Given the description of an element on the screen output the (x, y) to click on. 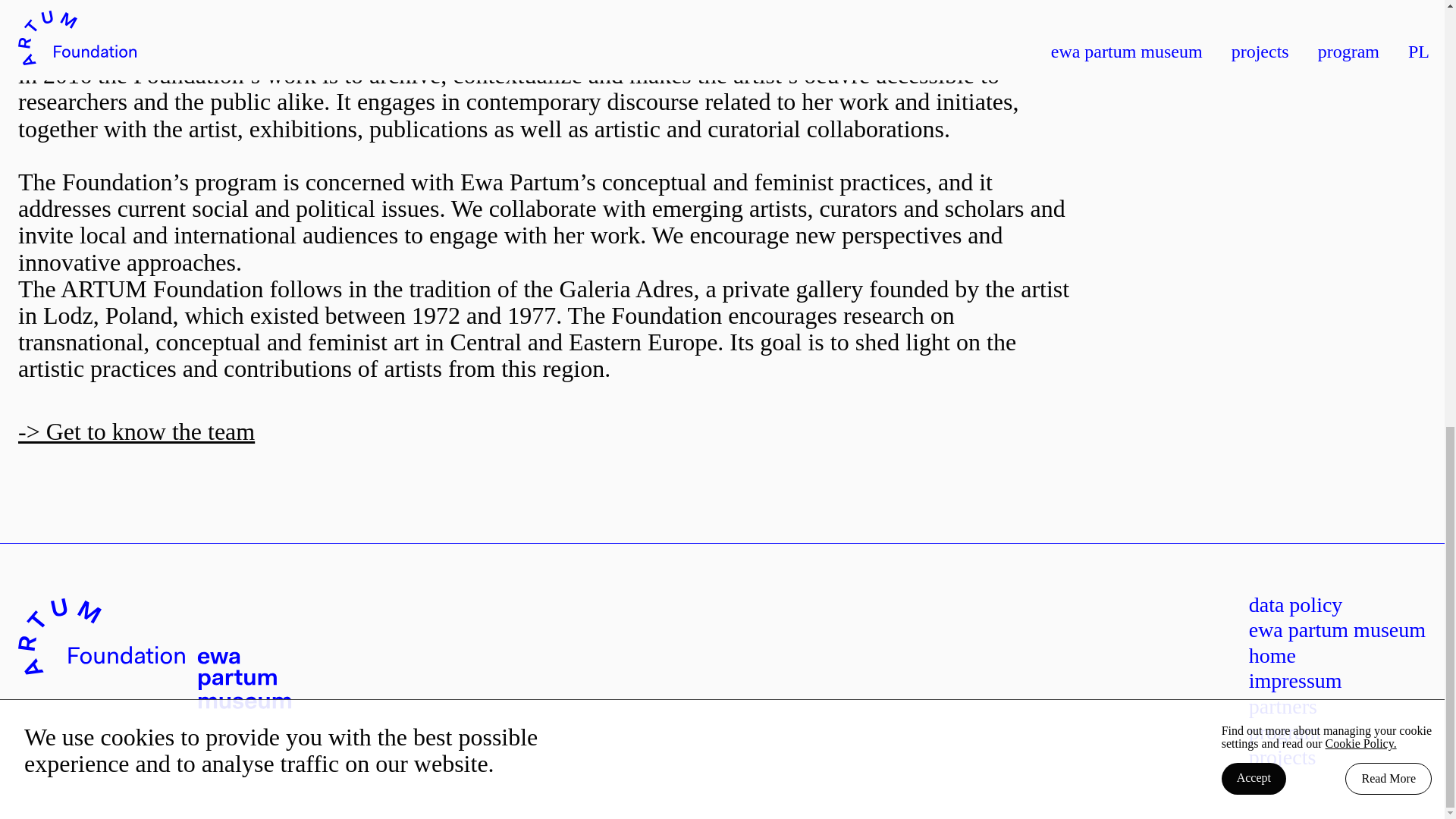
home (1272, 655)
ewa partum museum (1337, 629)
impressum (1295, 680)
projects (1282, 757)
program (1284, 731)
partners (1283, 706)
data policy (1295, 604)
